Given the description of an element on the screen output the (x, y) to click on. 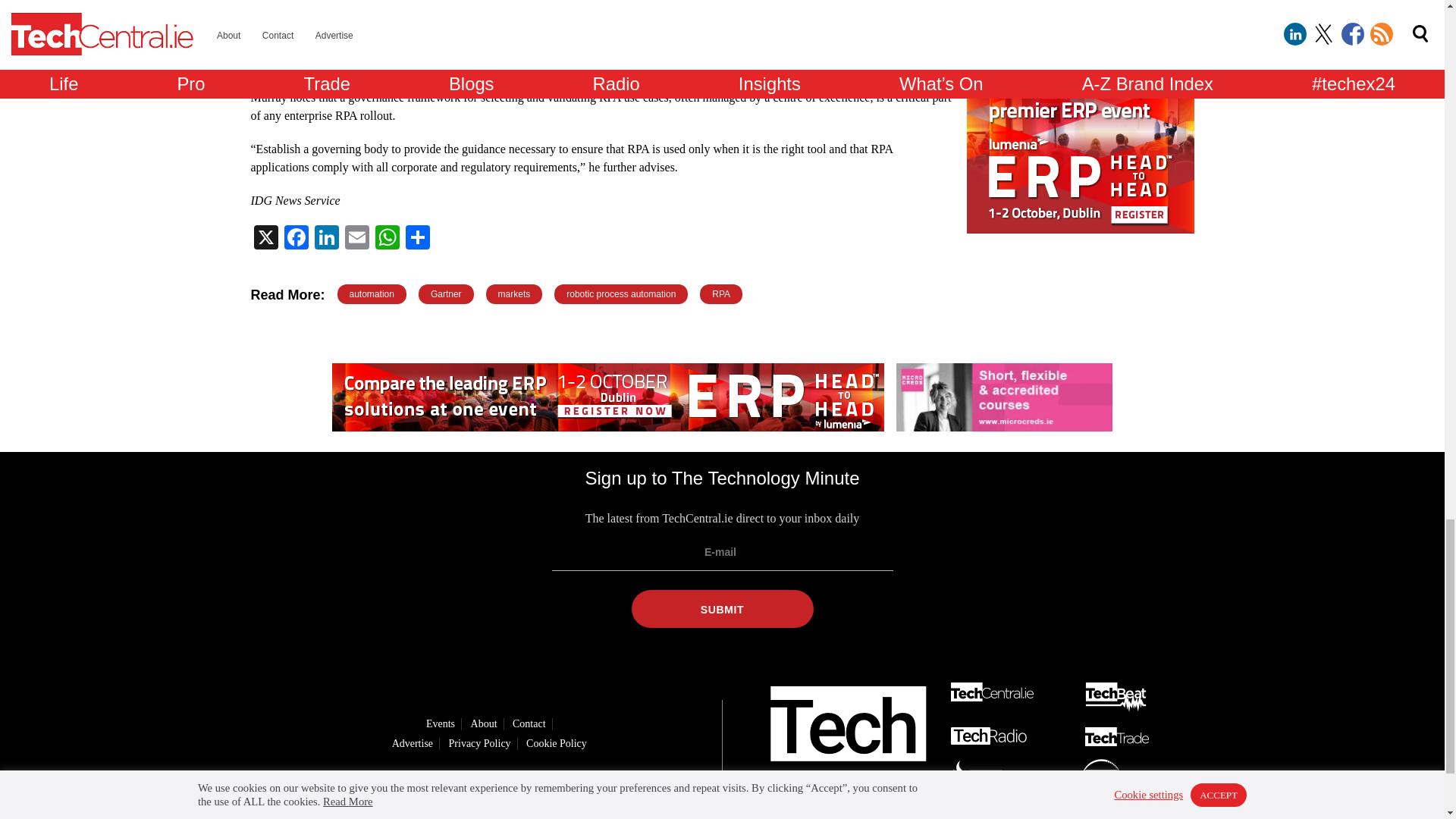
Submit (721, 608)
